Given the description of an element on the screen output the (x, y) to click on. 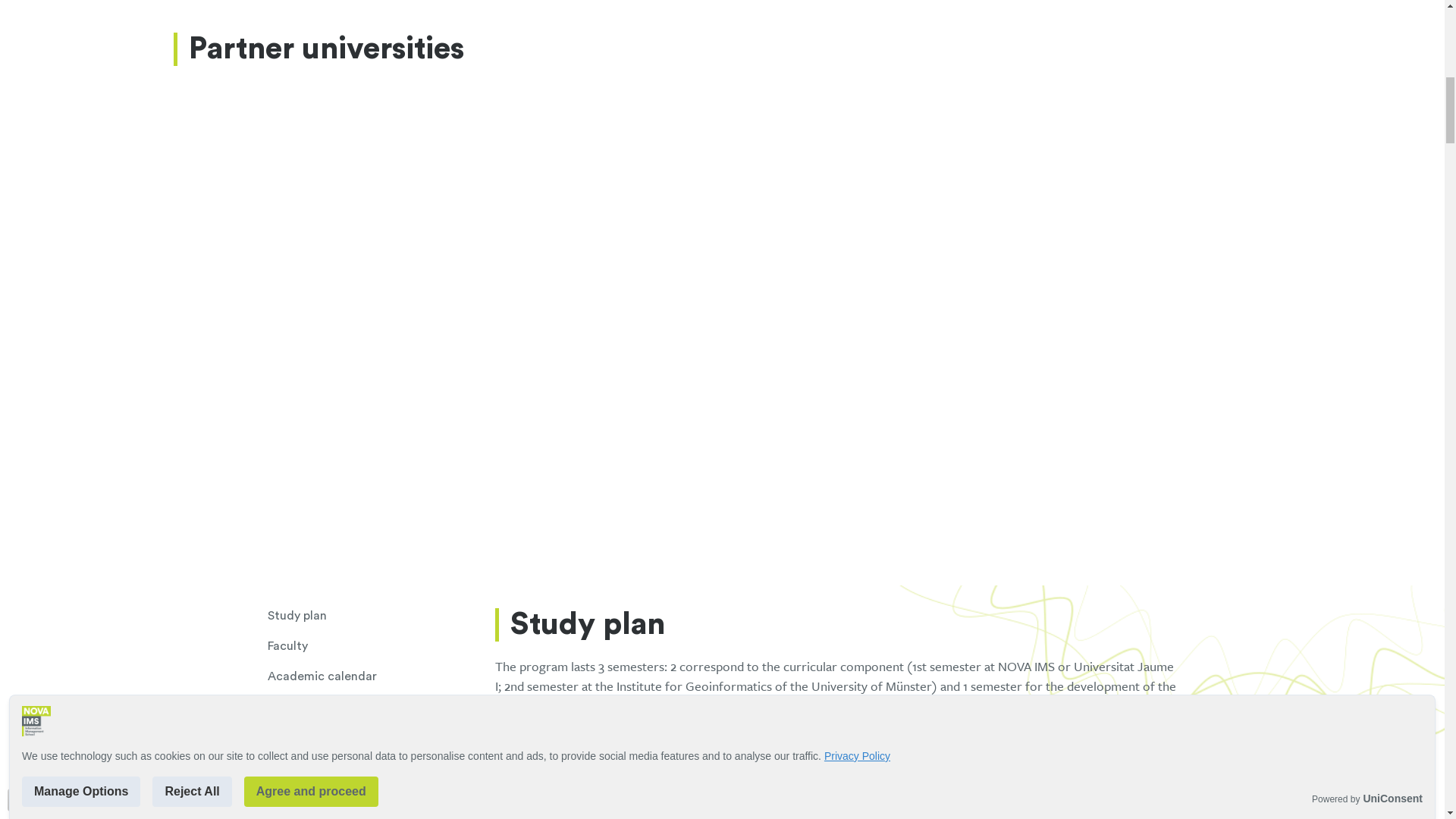
Scholarships (380, 797)
Study plan (380, 615)
Academic calendar (380, 676)
Faculty (380, 645)
Length, timetable and exams (380, 706)
Geomundus (380, 767)
